Given the description of an element on the screen output the (x, y) to click on. 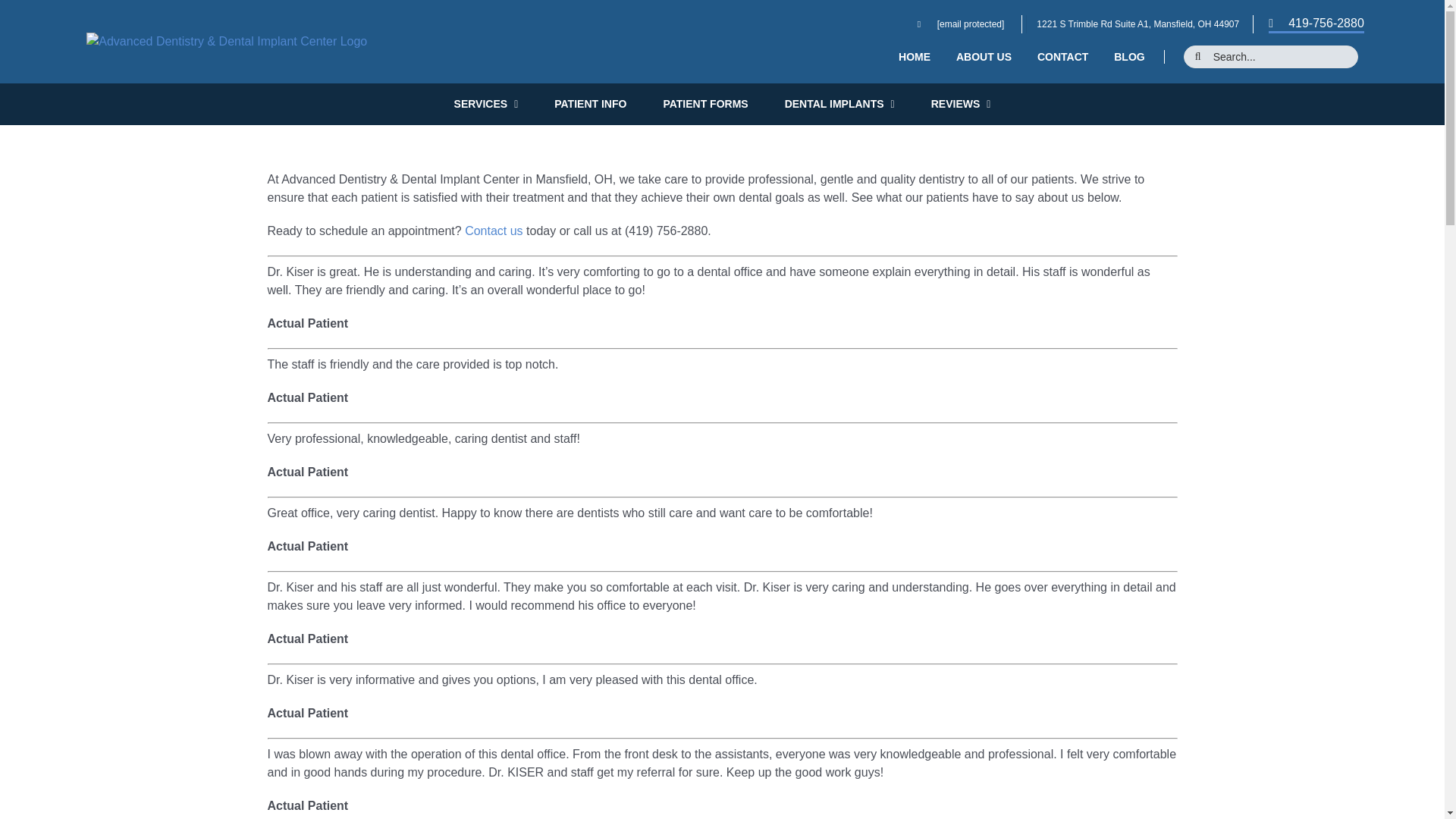
Contact (493, 230)
SERVICES (486, 103)
ABOUT US (983, 56)
BLOG (1129, 56)
419-756-2880 (1316, 24)
REVIEWS (961, 103)
DENTAL IMPLANTS (839, 103)
PATIENT INFO (590, 103)
PATIENT FORMS (705, 103)
HOME (914, 56)
